Given the description of an element on the screen output the (x, y) to click on. 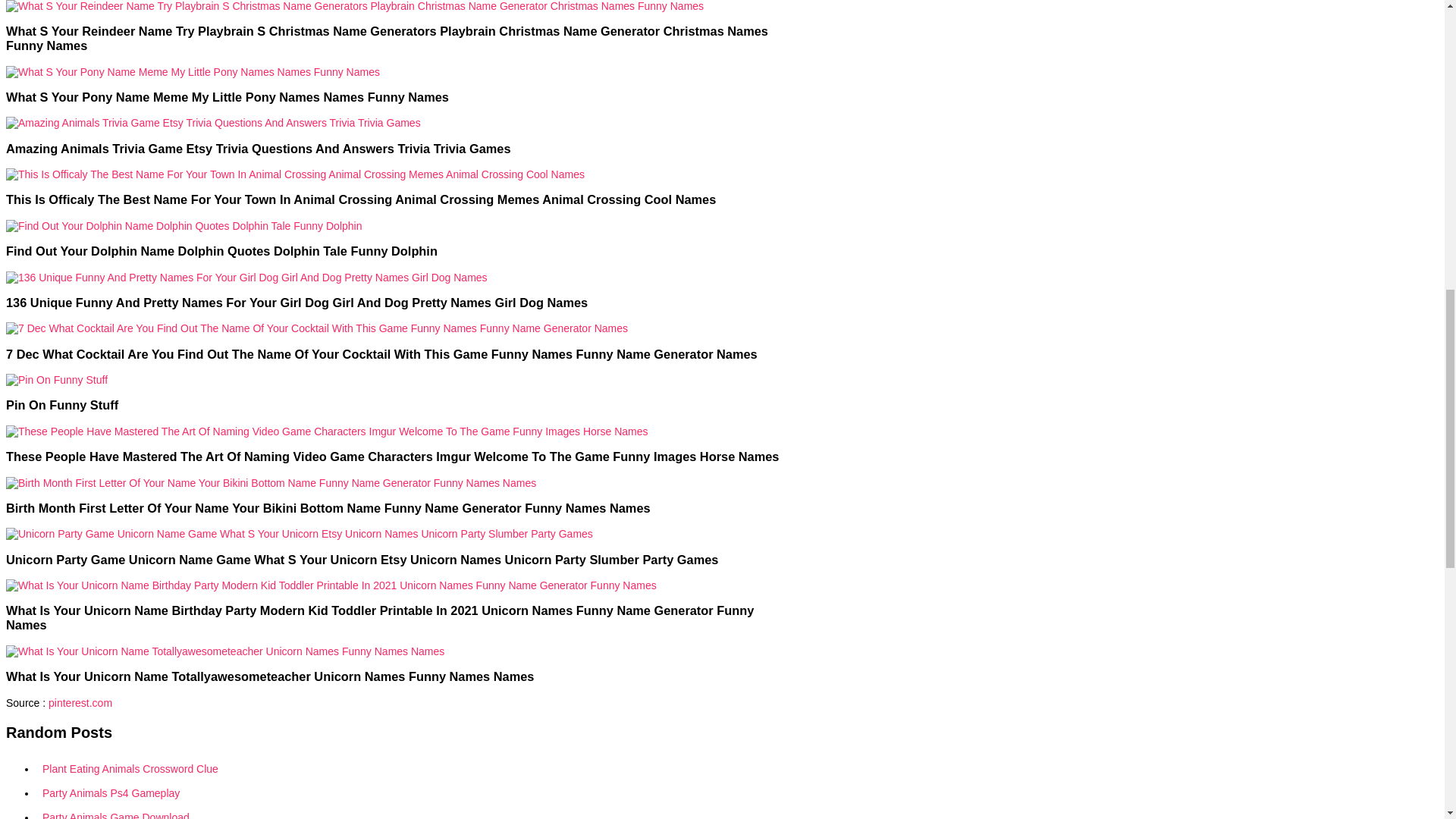
Plant Eating Animals Crossword Clue (409, 768)
Party Animals Ps4 Gameplay (409, 793)
Party Animals Game Download (409, 812)
pinterest.com (80, 702)
